Given the description of an element on the screen output the (x, y) to click on. 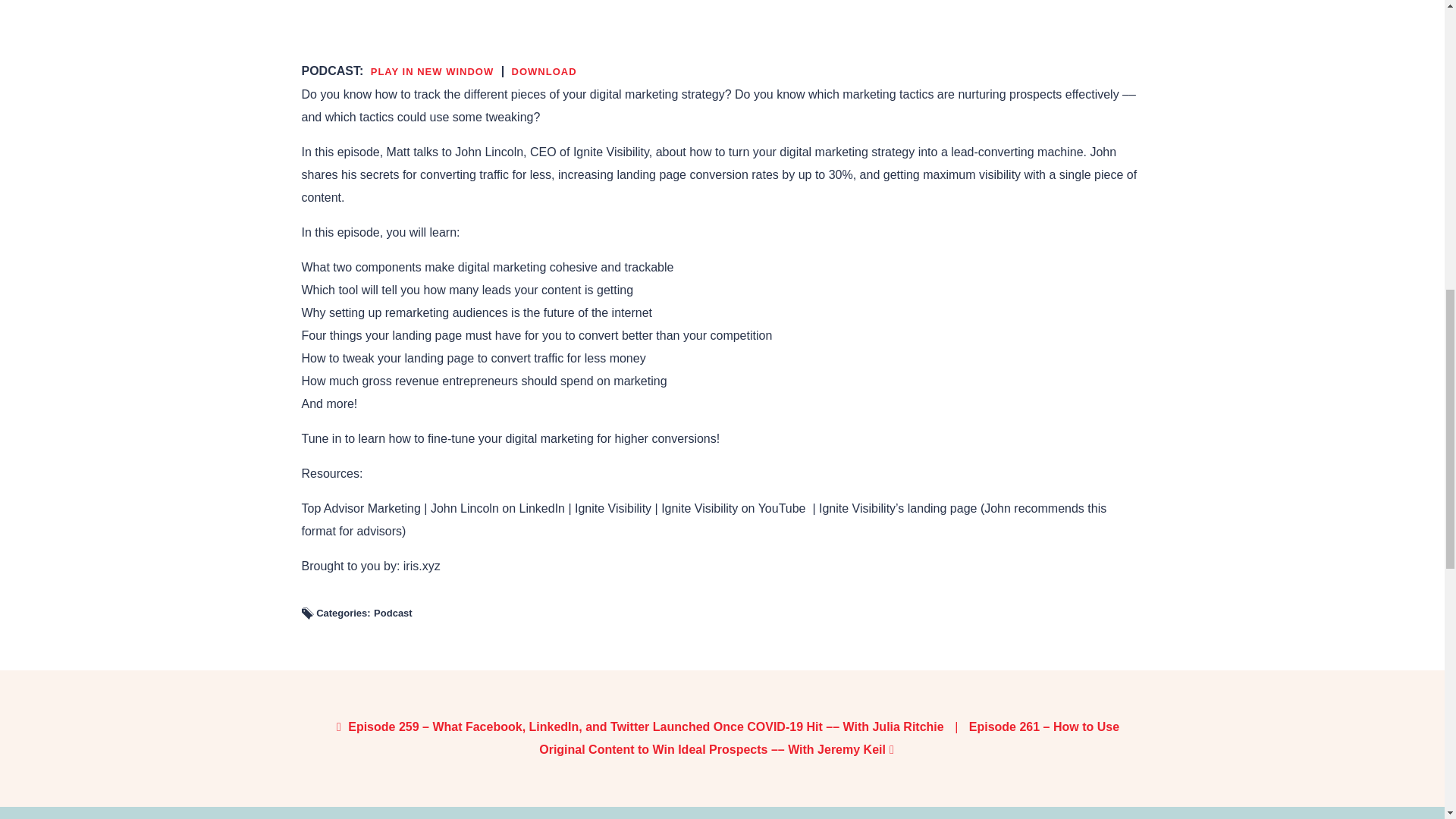
Play in new window (431, 71)
PLAY IN NEW WINDOW (431, 71)
Blubrry Podcast Player (721, 20)
Download (544, 71)
DOWNLOAD (544, 71)
